Given the description of an element on the screen output the (x, y) to click on. 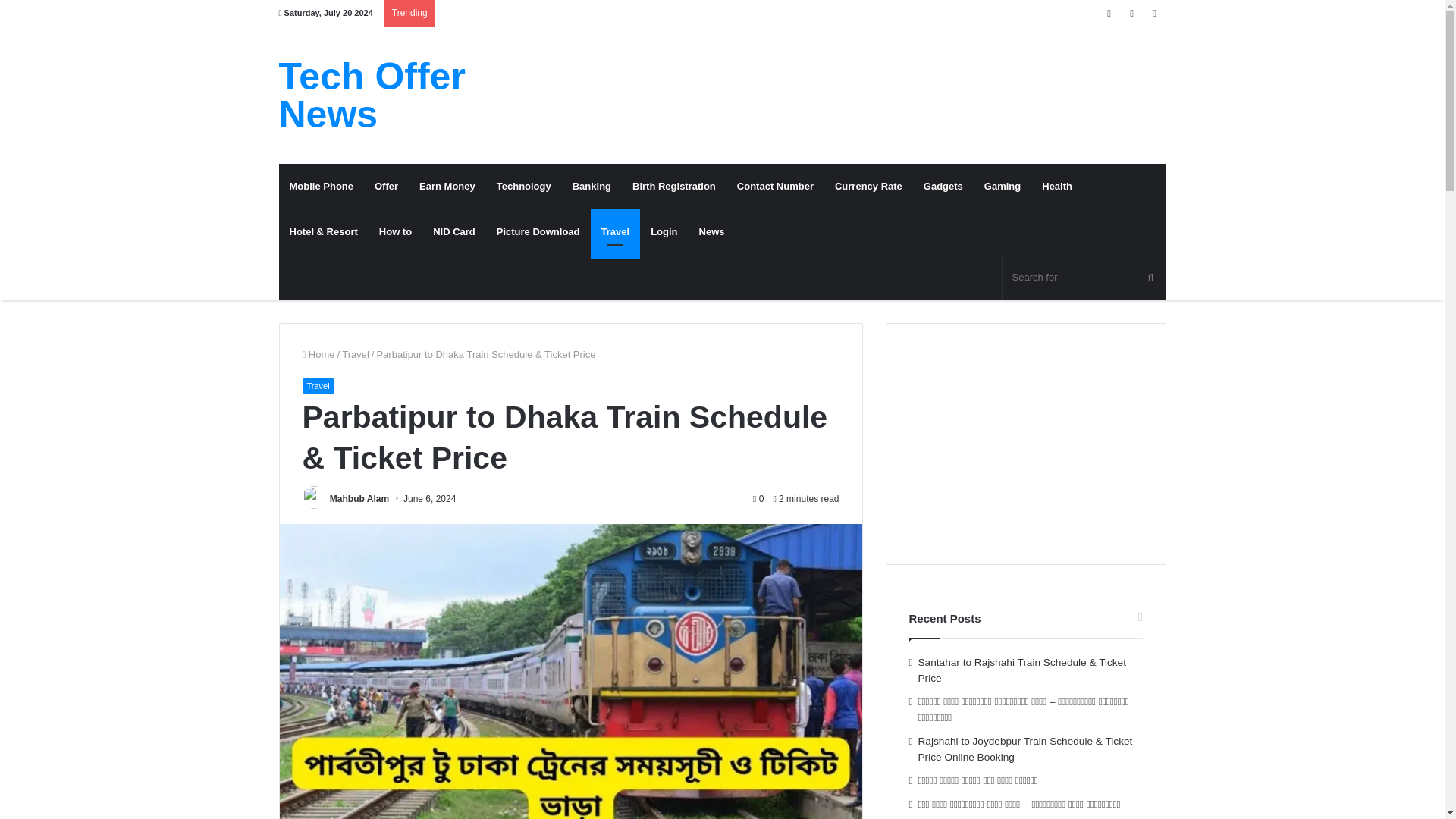
Health (1056, 186)
Mobile Phone (322, 186)
NID Card (454, 231)
Gaming (1002, 186)
Gadgets (943, 186)
Banking (591, 186)
Travel (355, 354)
Technology (524, 186)
Home (317, 354)
Offer (386, 186)
Login (663, 231)
Travel (317, 385)
News (711, 231)
Tech Offer News (419, 95)
0 (757, 498)
